Given the description of an element on the screen output the (x, y) to click on. 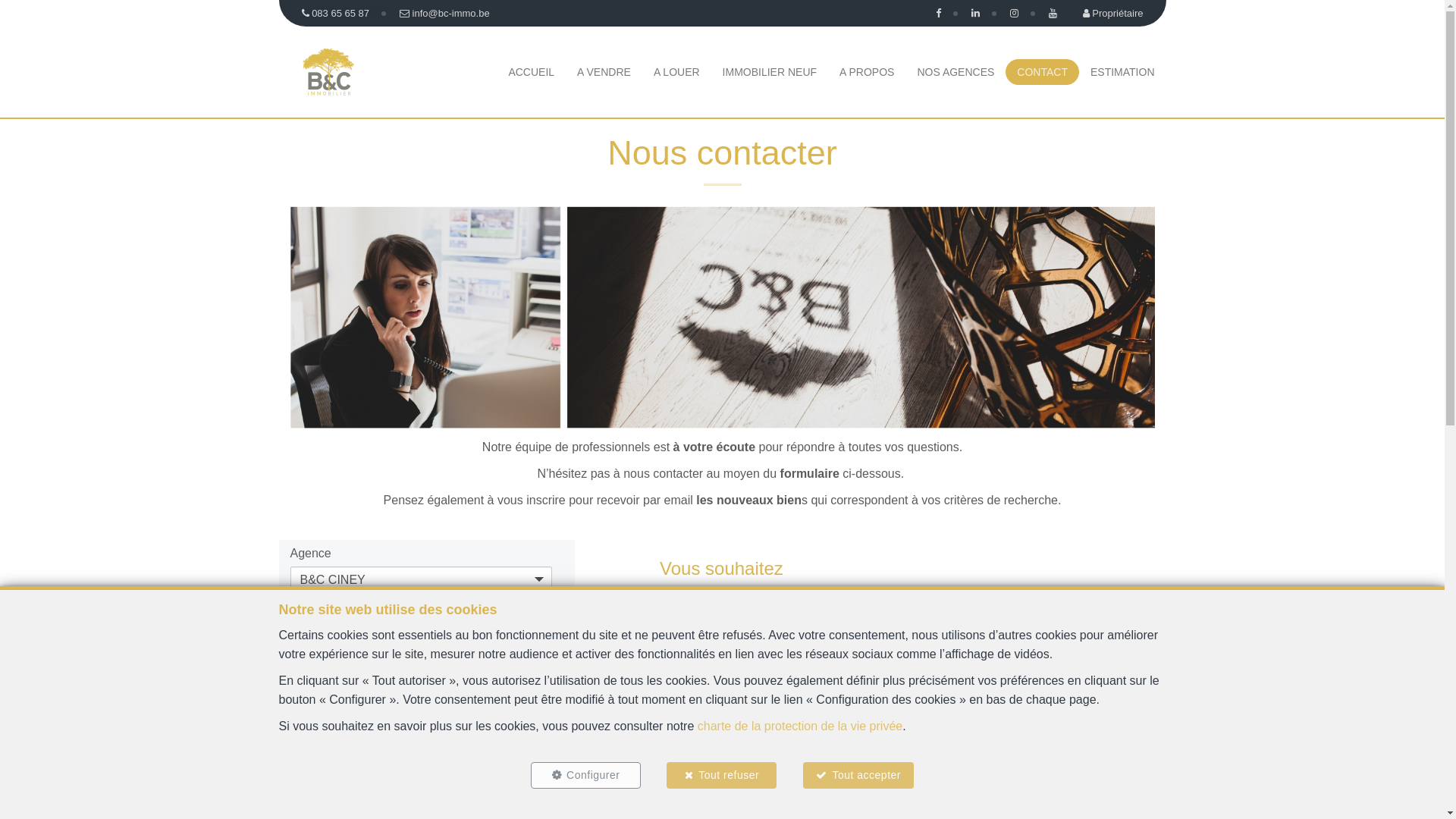
Tout accepter Element type: text (858, 775)
ESTIMATION Element type: text (1122, 71)
Configurer Element type: text (585, 775)
083/65.65.87 Element type: text (392, 696)
NOS AGENCES Element type: text (955, 71)
A PROPOS Element type: text (866, 71)
ACCUEIL Element type: text (531, 71)
IMMOBILIER NEUF Element type: text (769, 71)
Tout refuser Element type: text (721, 775)
CONTACT Element type: text (1041, 71)
A LOUER Element type: text (676, 71)
A VENDRE Element type: text (603, 71)
083 65 65 87 Element type: text (337, 13)
info@bc-immo.be Element type: text (337, 722)
info@bc-immo.be Element type: text (444, 13)
